Given the description of an element on the screen output the (x, y) to click on. 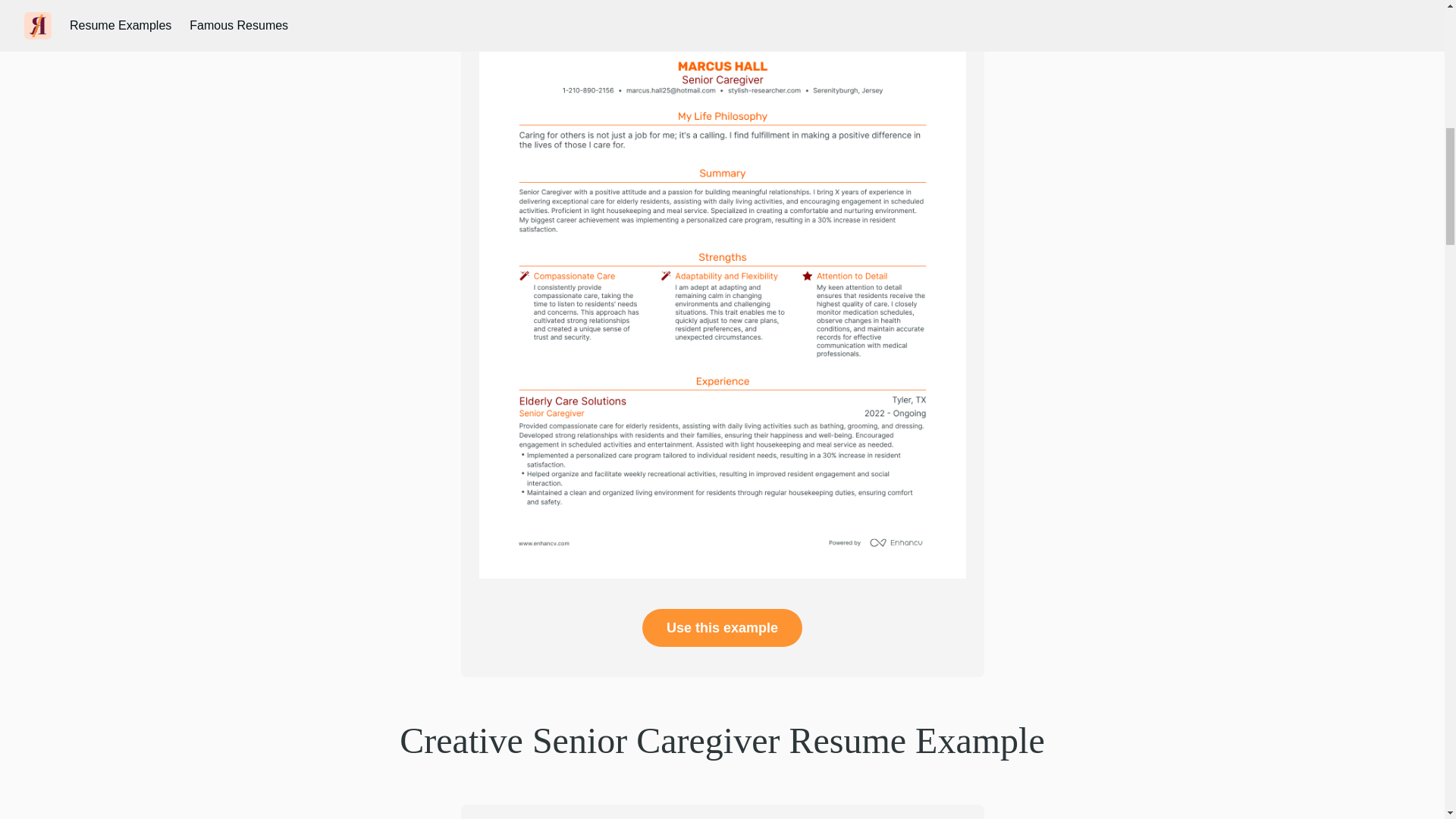
Use this example (722, 628)
